Given the description of an element on the screen output the (x, y) to click on. 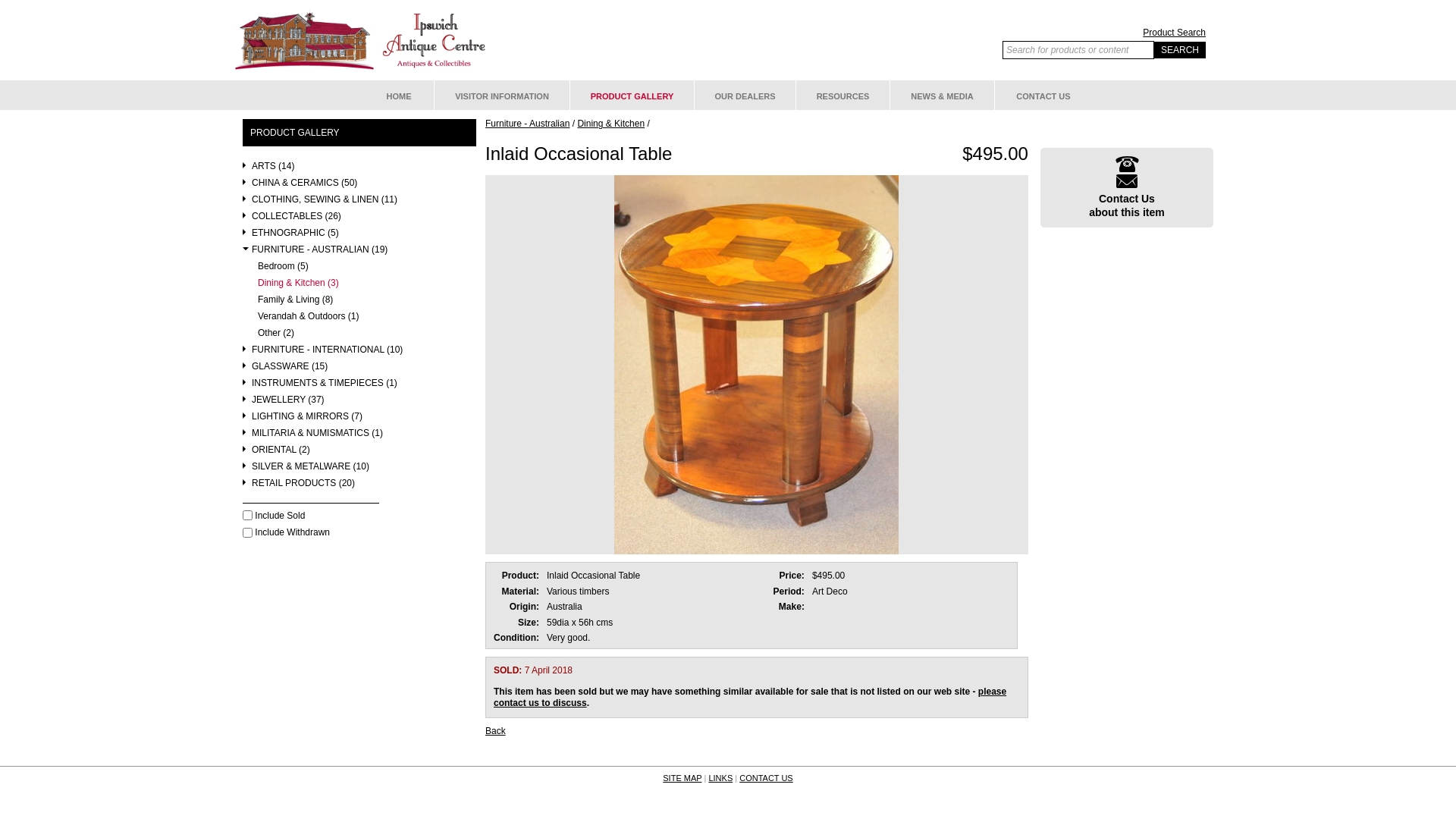
OUR DEALERS Element type: text (744, 94)
CONTACT US Element type: text (1043, 94)
Furniture - Australian Element type: text (527, 123)
HOME Element type: text (398, 94)
NEWS & MEDIA Element type: text (942, 94)
ETHNOGRAPHIC (5) Element type: text (359, 236)
CHINA & CERAMICS (50) Element type: text (359, 186)
RESOURCES Element type: text (842, 94)
Family & Living (8) Element type: text (359, 302)
please contact us to discuss Element type: text (749, 697)
Other (2) Element type: text (359, 336)
SILVER & METALWARE (10) Element type: text (359, 469)
SITE MAP Element type: text (681, 777)
CONTACT US Element type: text (766, 777)
Bedroom (5) Element type: text (359, 269)
Back Element type: text (495, 730)
VISITOR INFORMATION Element type: text (501, 94)
LIGHTING & MIRRORS (7) Element type: text (359, 419)
MILITARIA & NUMISMATICS (1) Element type: text (359, 436)
GLASSWARE (15) Element type: text (359, 369)
Verandah & Outdoors (1) Element type: text (359, 319)
INSTRUMENTS & TIMEPIECES (1) Element type: text (359, 386)
CLOTHING, SEWING & LINEN (11) Element type: text (359, 202)
JEWELLERY (37) Element type: text (359, 403)
COLLECTABLES (26) Element type: text (359, 219)
PRODUCT GALLERY Element type: text (294, 132)
LINKS Element type: text (720, 777)
FURNITURE - INTERNATIONAL (10) Element type: text (359, 353)
SEARCH Element type: text (1179, 49)
0 Element type: text (247, 515)
Product Search Element type: text (1103, 32)
Contact Us
about this item Element type: text (1126, 187)
ORIENTAL (2) Element type: text (359, 453)
ARTS (14) Element type: text (359, 169)
Dining & Kitchen (3) Element type: text (359, 286)
FURNITURE - AUSTRALIAN (19) Element type: text (359, 252)
0 Element type: text (247, 532)
Dining & Kitchen Element type: text (610, 123)
PRODUCT GALLERY Element type: text (631, 94)
RETAIL PRODUCTS (20) Element type: text (359, 486)
